Given the description of an element on the screen output the (x, y) to click on. 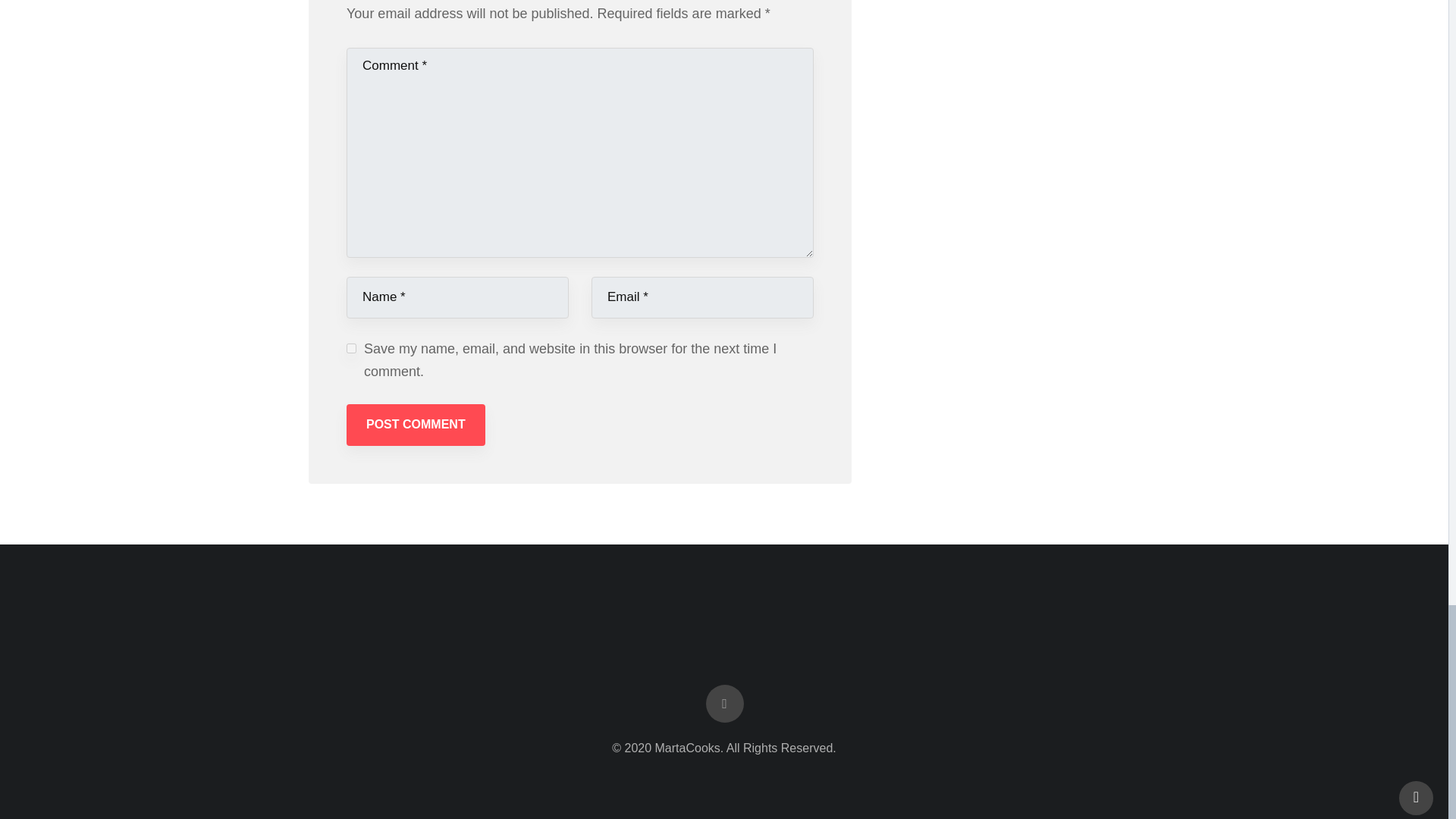
Post Comment (415, 424)
Post Comment (415, 424)
yes (351, 347)
